Given the description of an element on the screen output the (x, y) to click on. 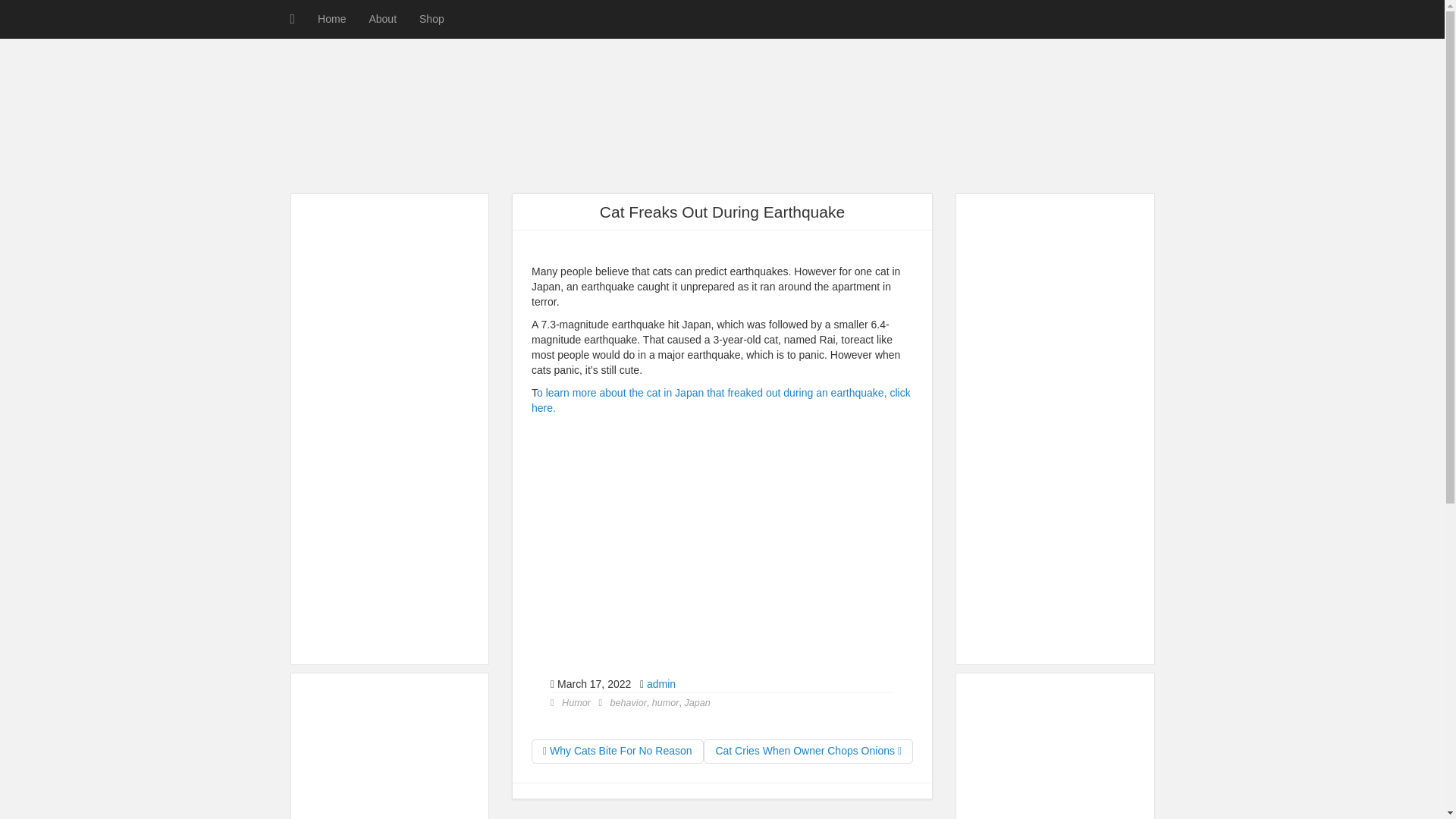
Humor (576, 702)
Shop (431, 18)
admin (660, 684)
About (381, 18)
Home (330, 18)
Why Cats Bite For No Reason (617, 751)
Home (330, 18)
About (381, 18)
Japan (697, 702)
humor (665, 702)
